Given the description of an element on the screen output the (x, y) to click on. 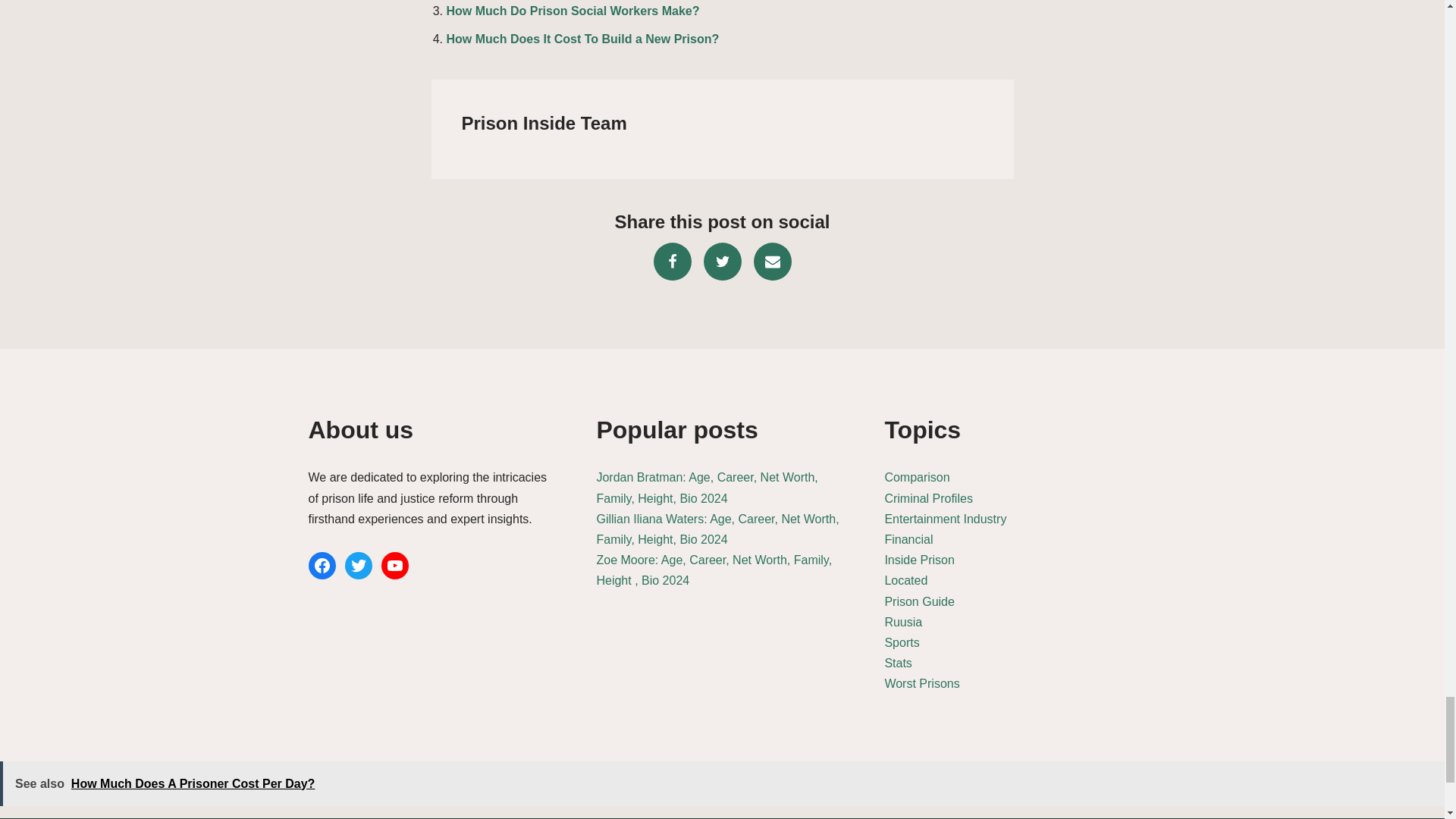
Twitter (722, 261)
How Much Does It Cost To Build a New Prison? (582, 38)
Facebook (672, 261)
How Much Do Prison Social Workers Make? (571, 10)
